Given the description of an element on the screen output the (x, y) to click on. 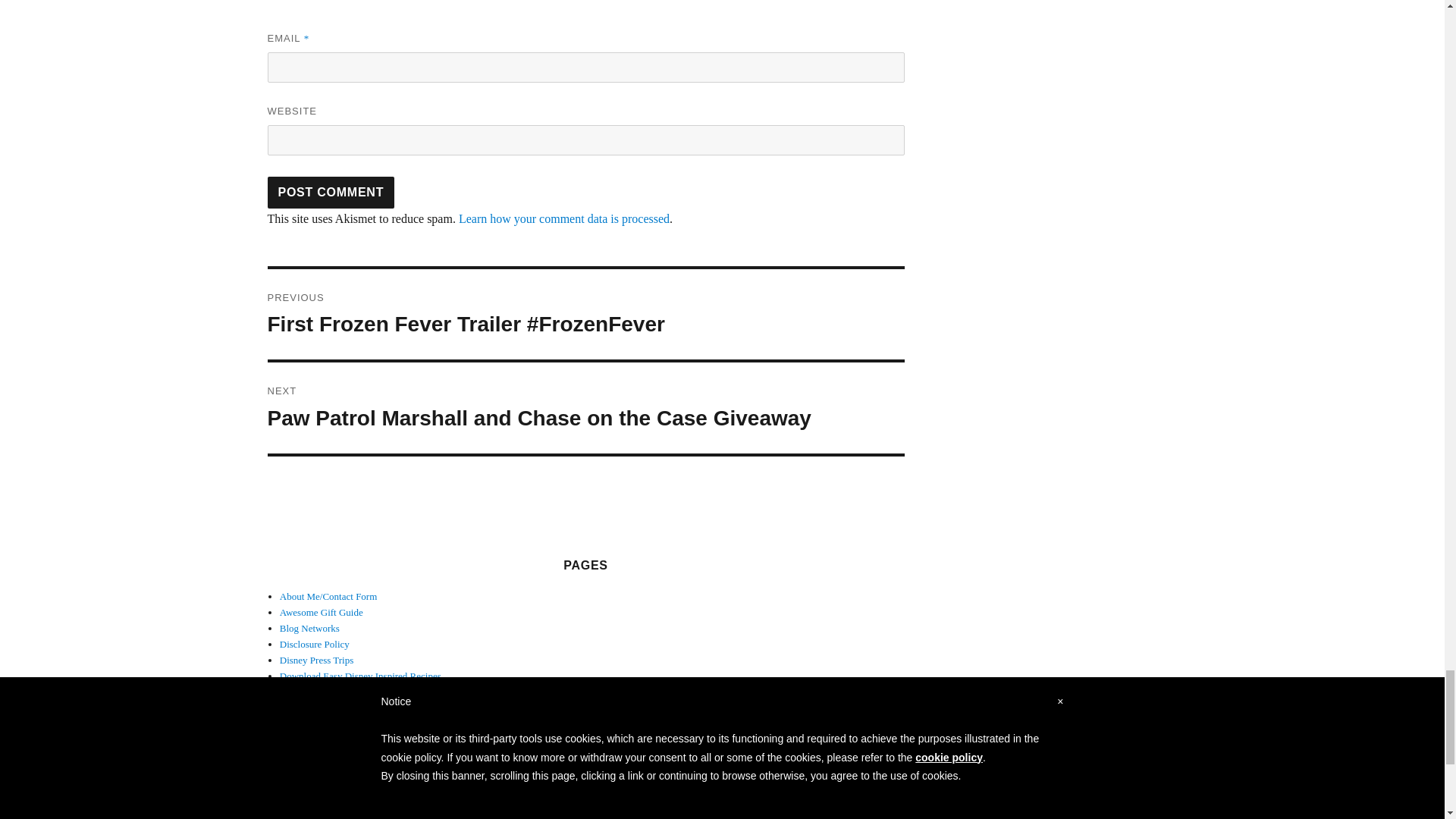
Blog Networks (309, 627)
Disney Press Trips (316, 659)
Post Comment (330, 192)
Awesome Gift Guide (320, 612)
Download Easy Disney Inspired Recipes (360, 675)
Post Comment (330, 192)
Disclosure Policy (314, 644)
Learn how your comment data is processed (563, 218)
